Given the description of an element on the screen output the (x, y) to click on. 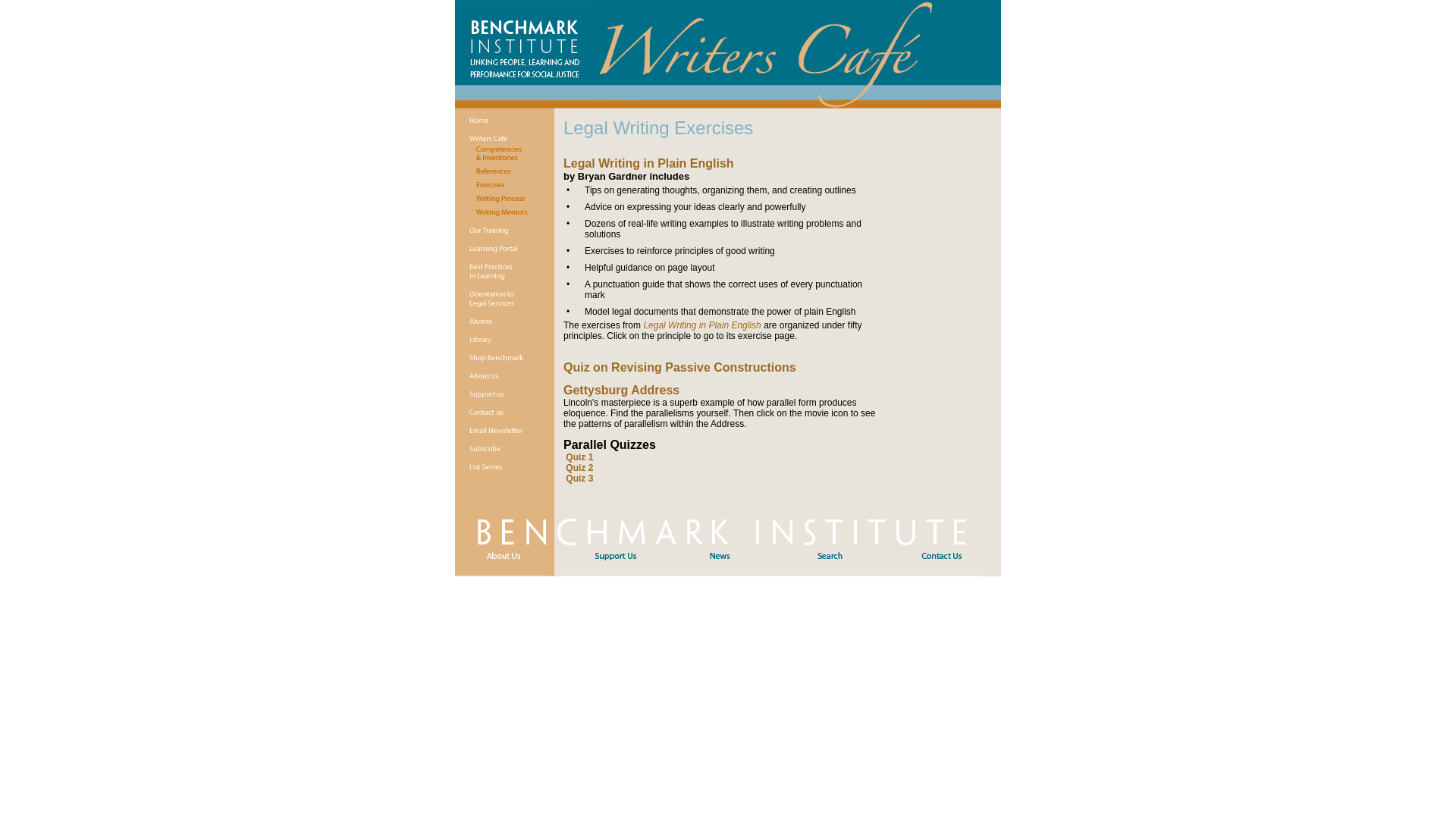
Legal Writing in Plain English (648, 163)
Quiz 1 (579, 457)
Legal Writing in Plain English (701, 325)
Quiz 2 (579, 467)
Quiz 3 (579, 478)
Quiz on Revising Passive Constructions (679, 368)
Gettysburg Address (621, 390)
